Given the description of an element on the screen output the (x, y) to click on. 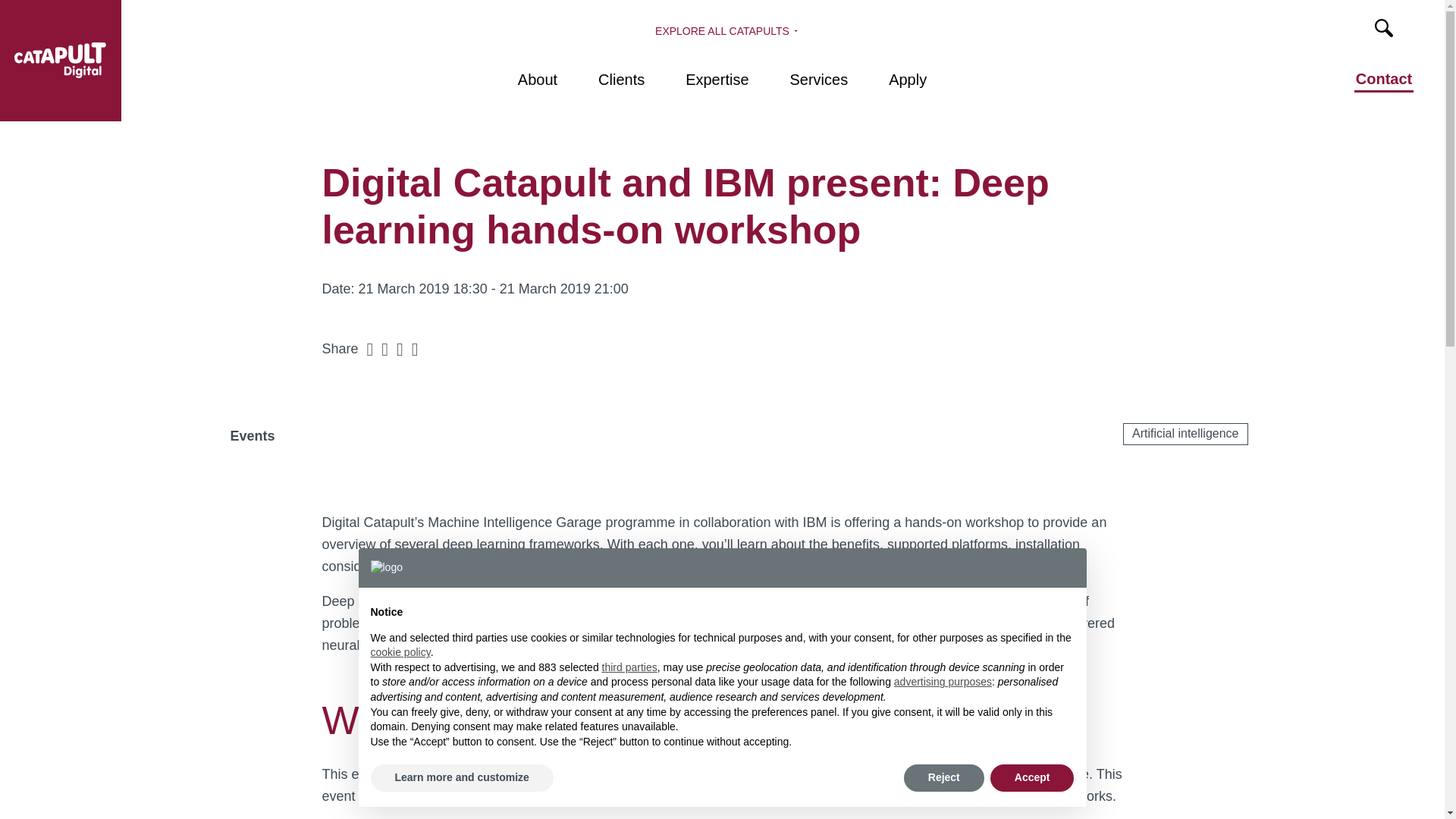
Expertise (716, 94)
EXPLORE ALL CATAPULTS (722, 30)
